Given the description of an element on the screen output the (x, y) to click on. 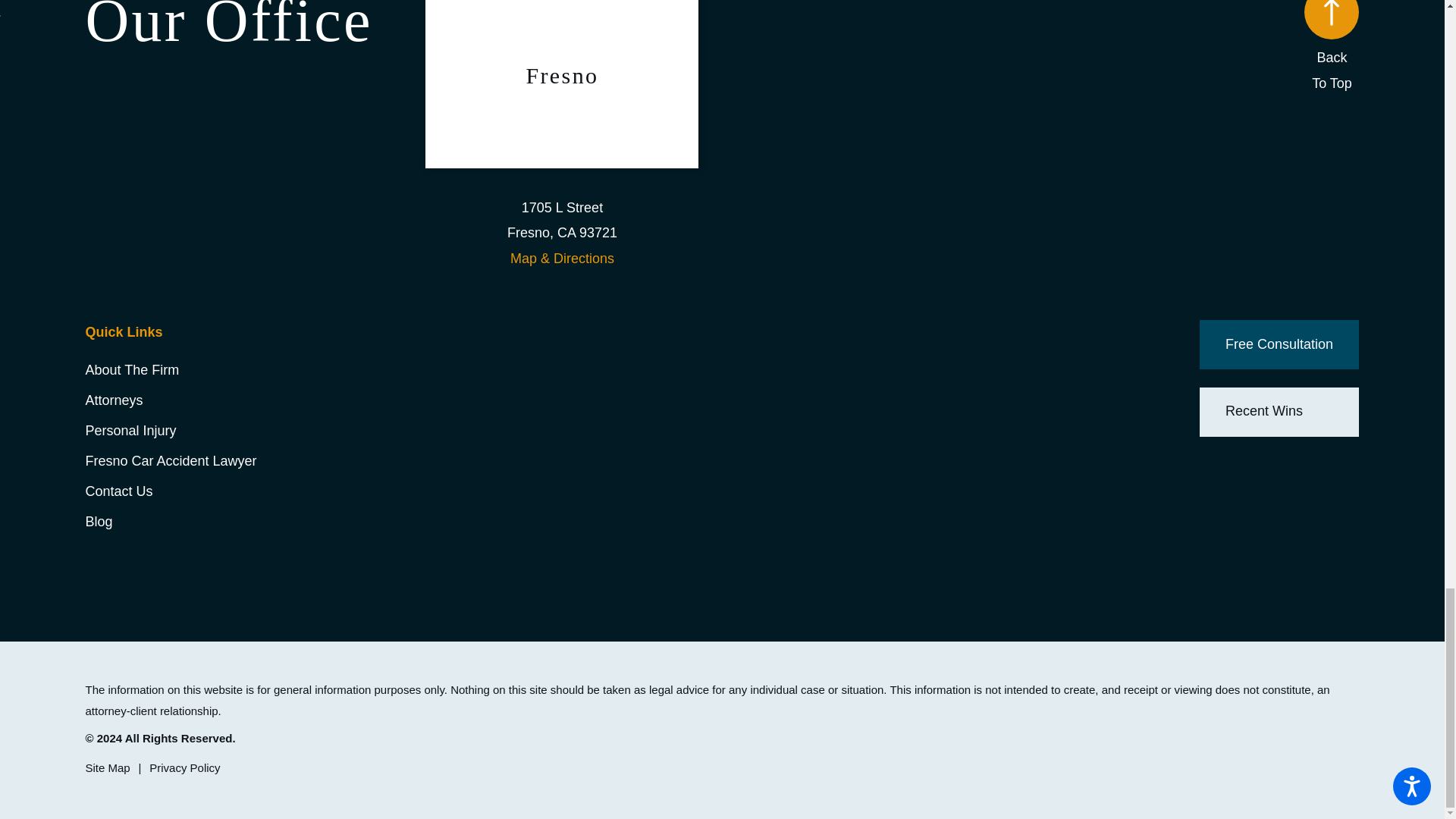
Facebook (1209, 465)
Twitter (1279, 465)
Yelp (1348, 465)
